Given the description of an element on the screen output the (x, y) to click on. 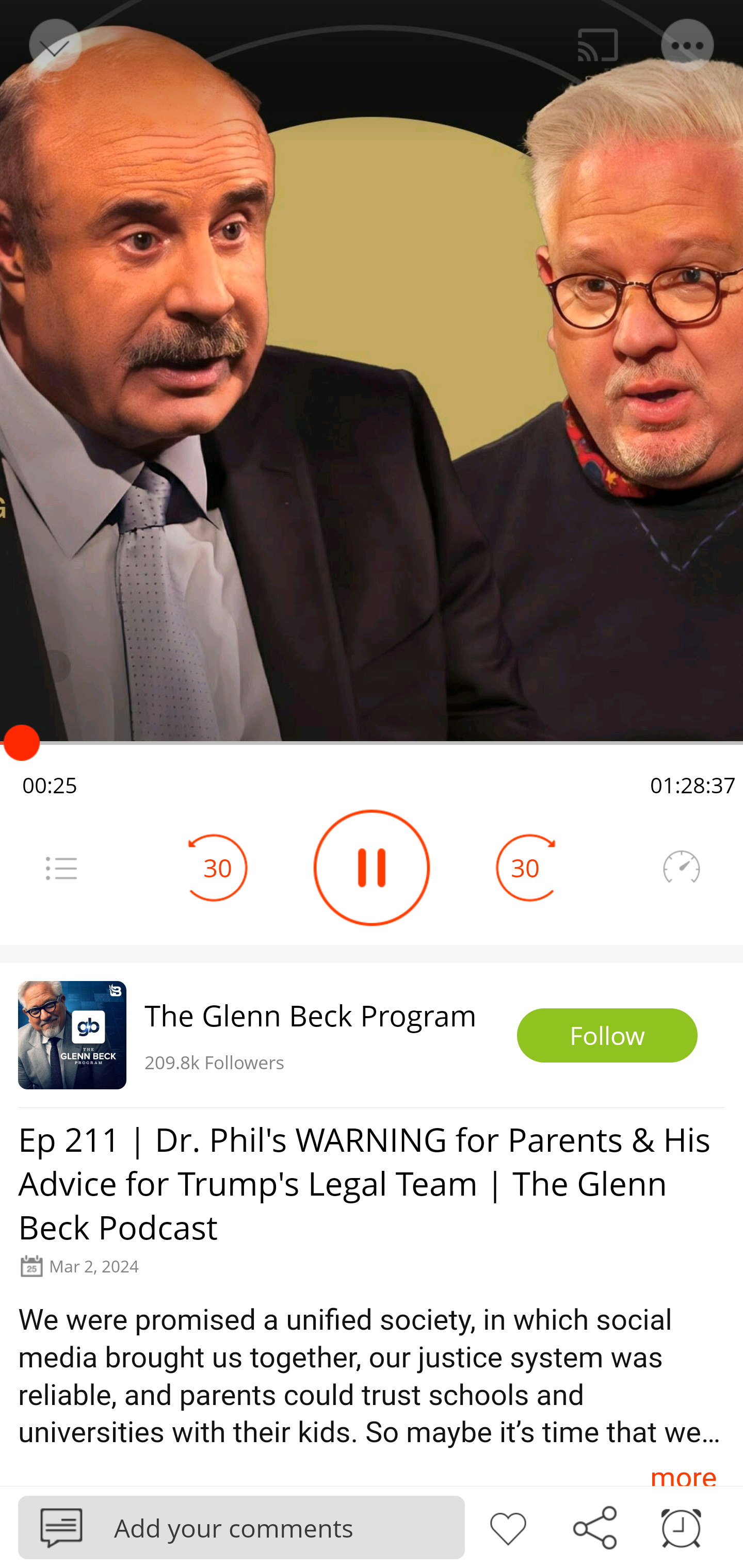
Back (53, 45)
Cast. Disconnected (597, 45)
Menu (688, 45)
Play (371, 867)
30 Seek Backward (217, 867)
30 Seek Forward (525, 867)
Menu (60, 867)
Speedometer (681, 867)
The Glenn Beck Program 209.8k Followers Follow (371, 1034)
Follow (607, 1035)
Like (508, 1526)
Share (594, 1526)
Sleep timer (681, 1526)
Podbean Add your comments (241, 1526)
